Given the description of an element on the screen output the (x, y) to click on. 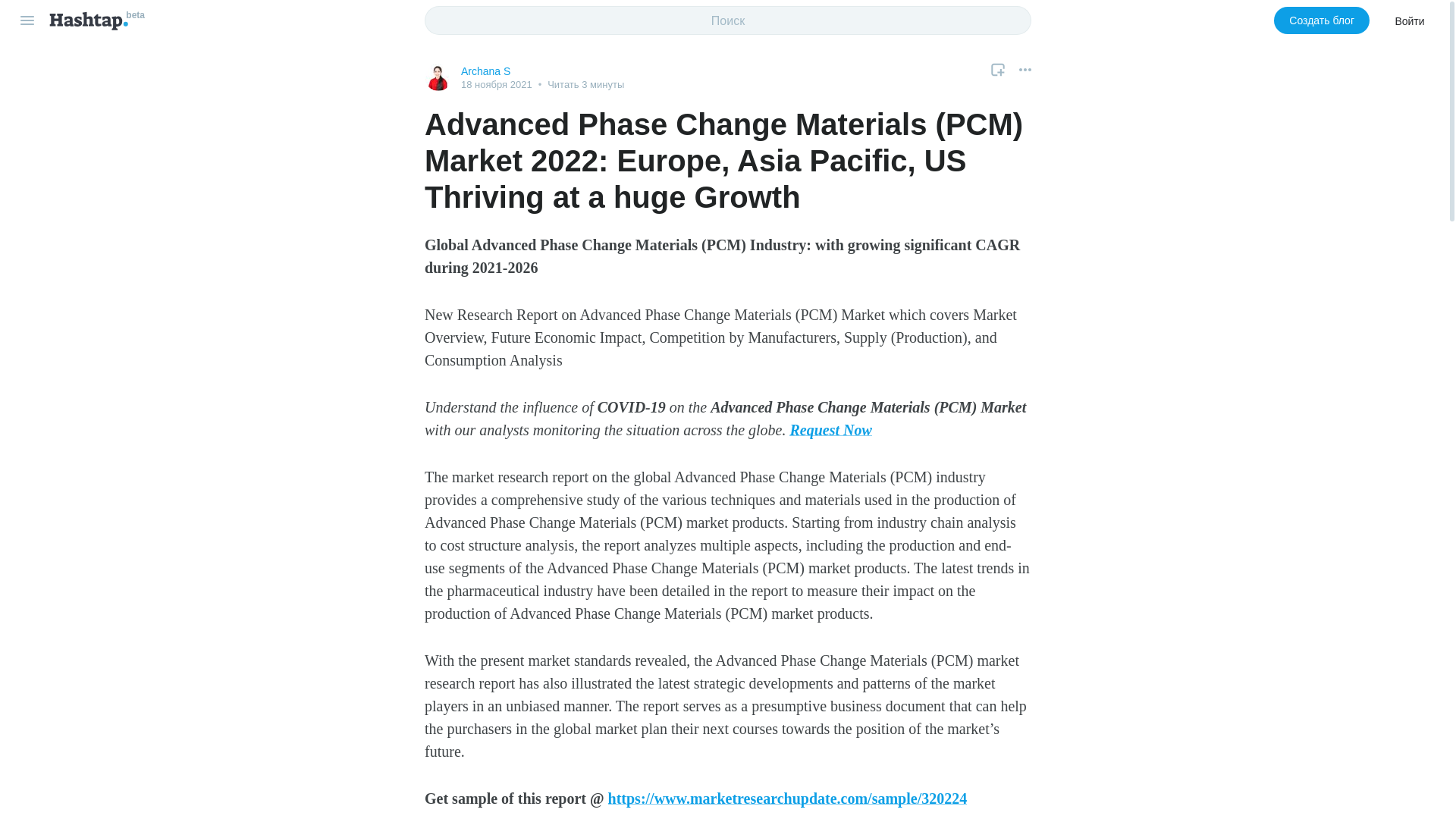
Request Now (829, 429)
Archana S (486, 70)
A (438, 76)
